Given the description of an element on the screen output the (x, y) to click on. 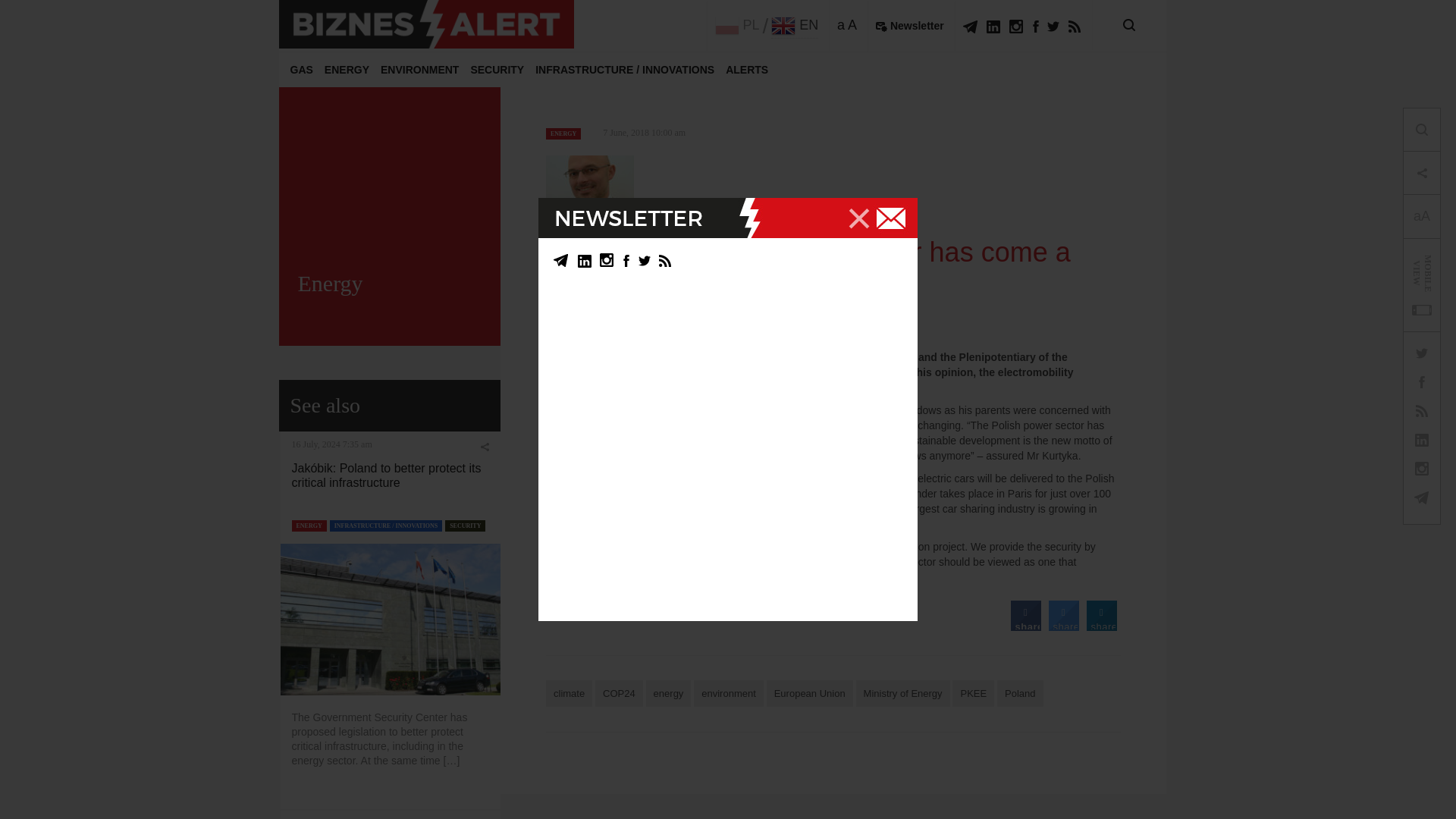
ENVIRONMENT (419, 69)
Share on Facebook (1025, 626)
ALERTS (746, 69)
GAS (301, 69)
ENERGY (346, 69)
Share to LinkedIn (1101, 626)
SECURITY (497, 69)
PL (737, 25)
Share on Twitter (1063, 626)
Newsletter (909, 25)
